Given the description of an element on the screen output the (x, y) to click on. 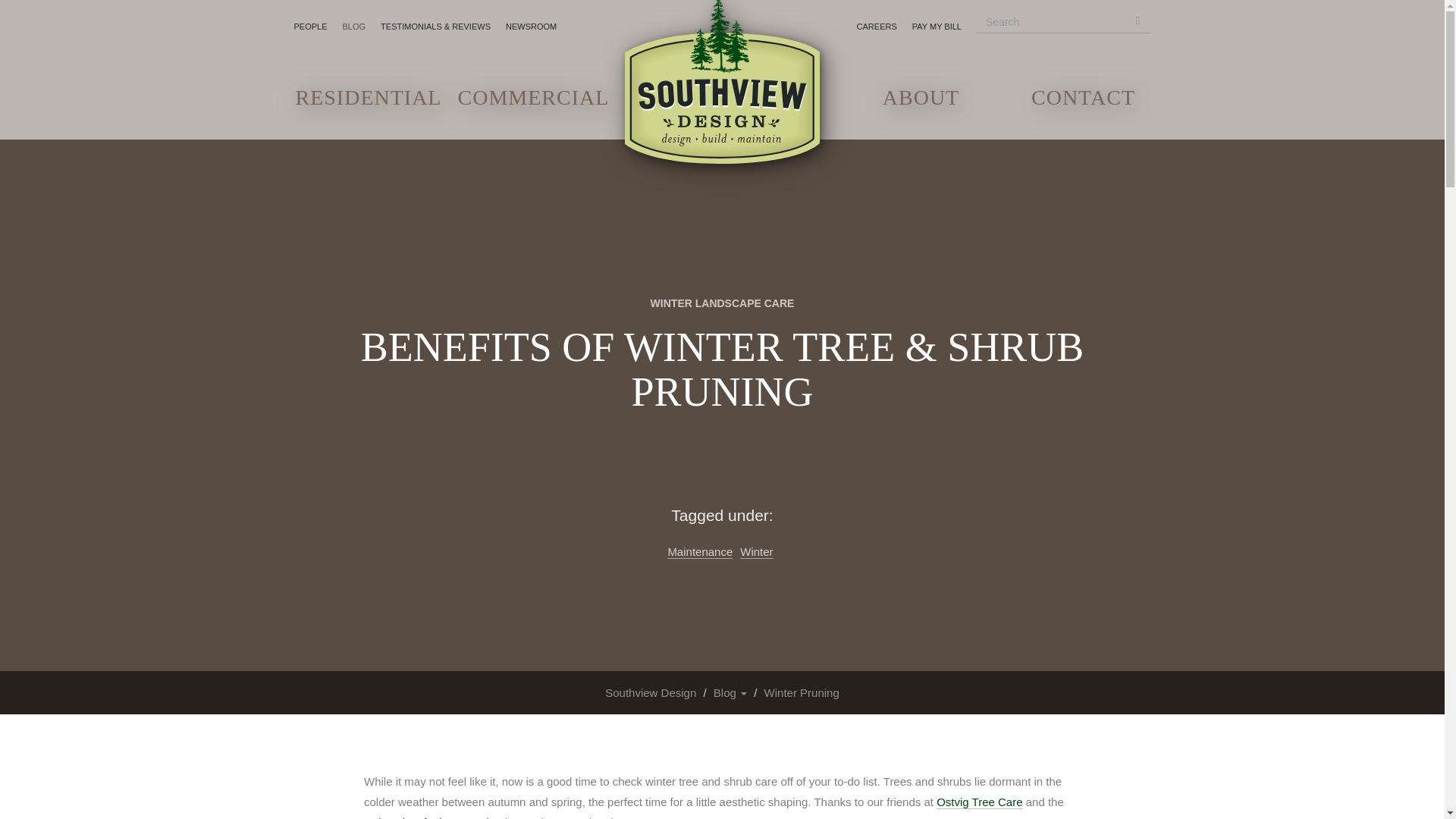
BLOG (358, 26)
Minneapolis Landscaper (722, 81)
ABOUT (921, 101)
Residential (361, 101)
About (921, 101)
PAY MY BILL (940, 26)
CAREERS (880, 26)
PEOPLE (314, 26)
RESIDENTIAL (361, 101)
NEWSROOM (534, 26)
